Given the description of an element on the screen output the (x, y) to click on. 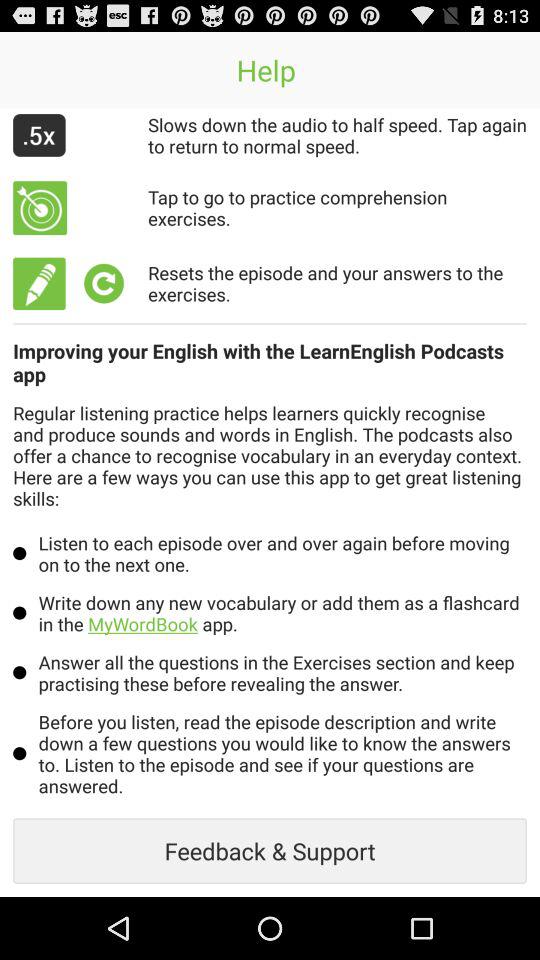
jump to feedback & support item (269, 850)
